Given the description of an element on the screen output the (x, y) to click on. 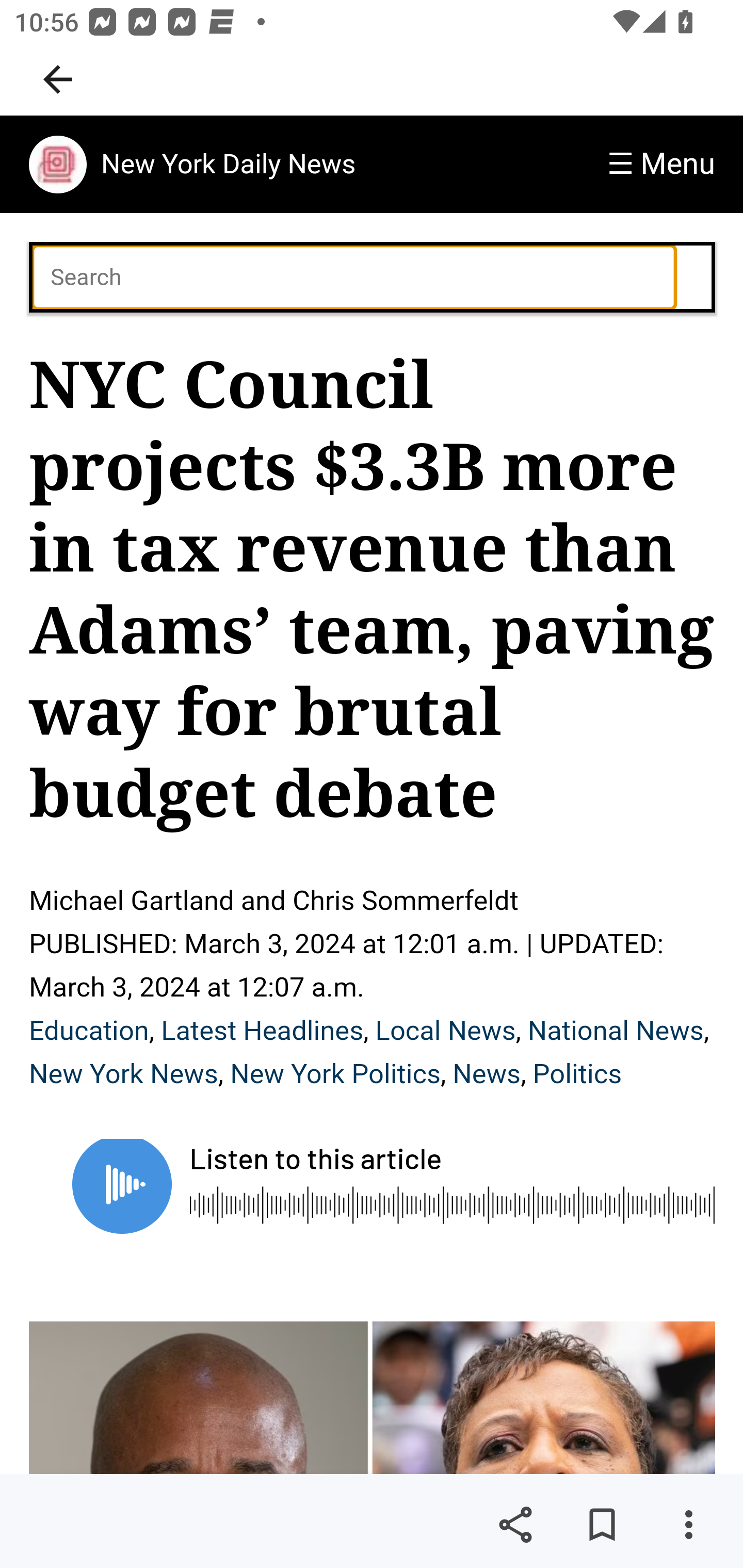
Navigate up (57, 79)
☰ Menu (661, 163)
Education (88, 1030)
Latest Headlines (262, 1030)
Local News (444, 1030)
National News (615, 1030)
New York News (123, 1073)
New York Politics (335, 1073)
News (486, 1073)
Politics (576, 1073)
Play (122, 1185)
Share (514, 1524)
Save for later (601, 1524)
More options (688, 1524)
